Given the description of an element on the screen output the (x, y) to click on. 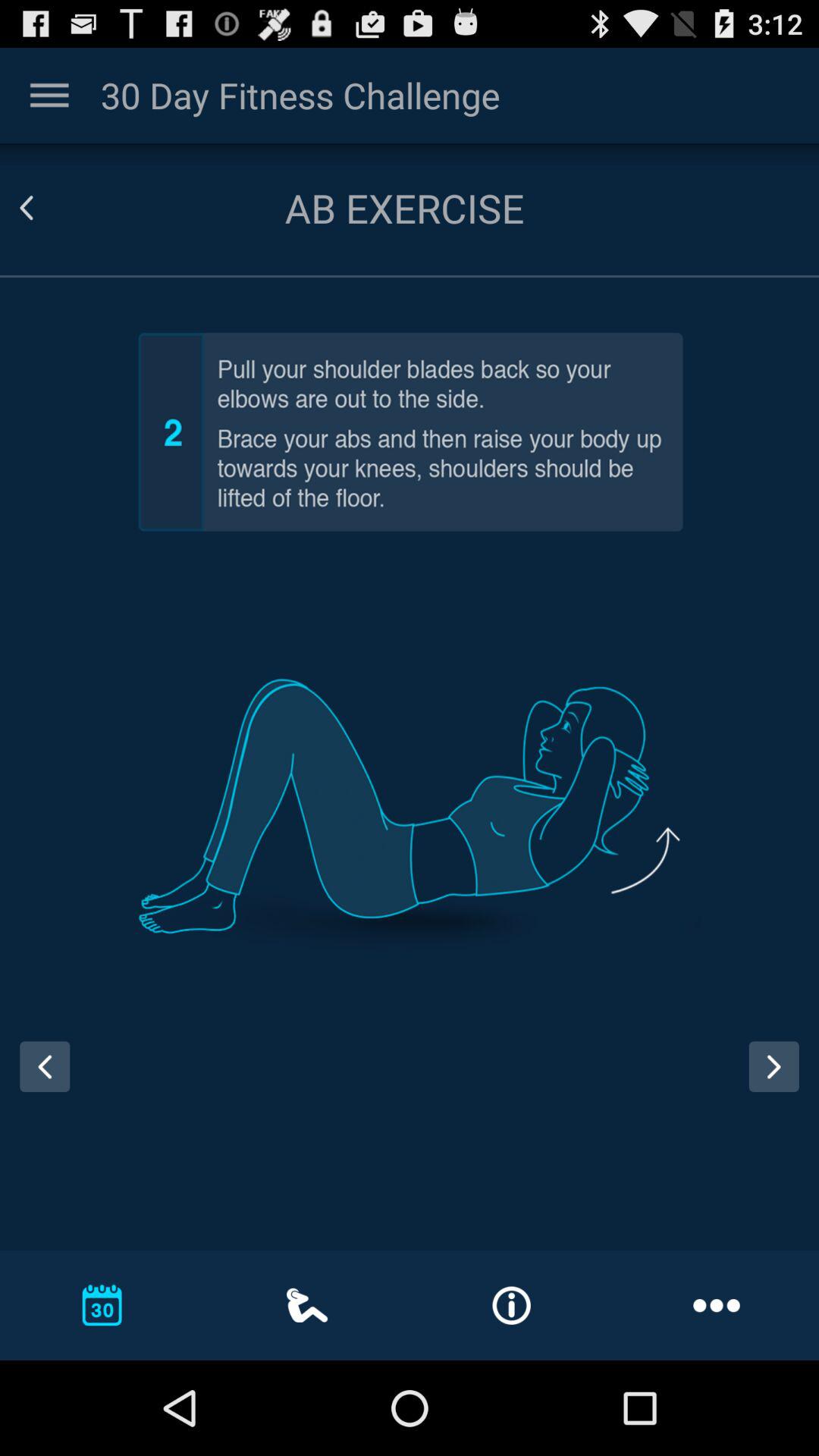
go next (774, 1066)
